Given the description of an element on the screen output the (x, y) to click on. 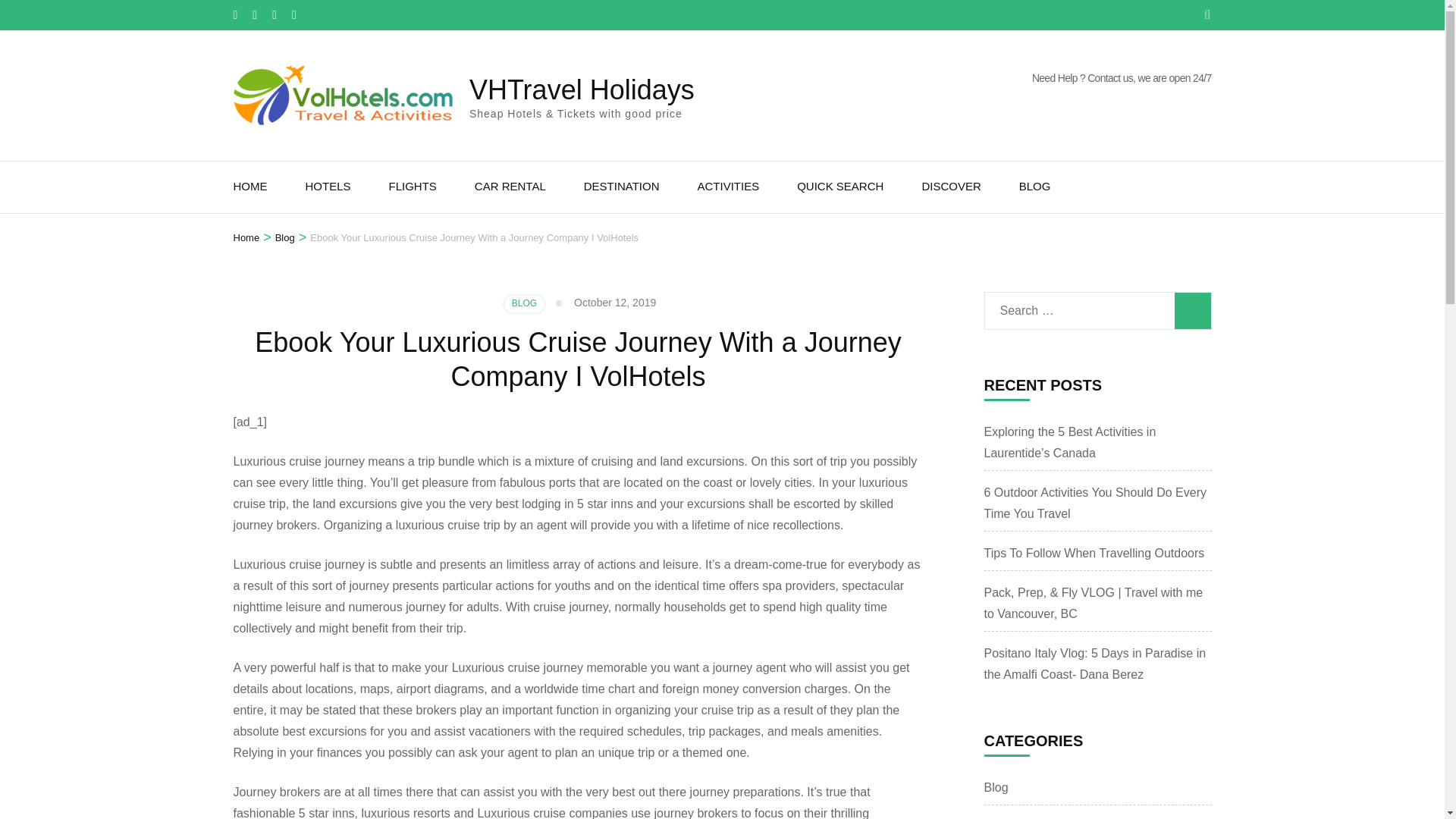
FLIGHTS (412, 186)
DISCOVER (950, 186)
DESTINATION (621, 186)
Home (246, 238)
ACTIVITIES (728, 186)
QUICK SEARCH (839, 186)
Search (1191, 310)
October 12, 2019 (614, 302)
CAR RENTAL (510, 186)
